Given the description of an element on the screen output the (x, y) to click on. 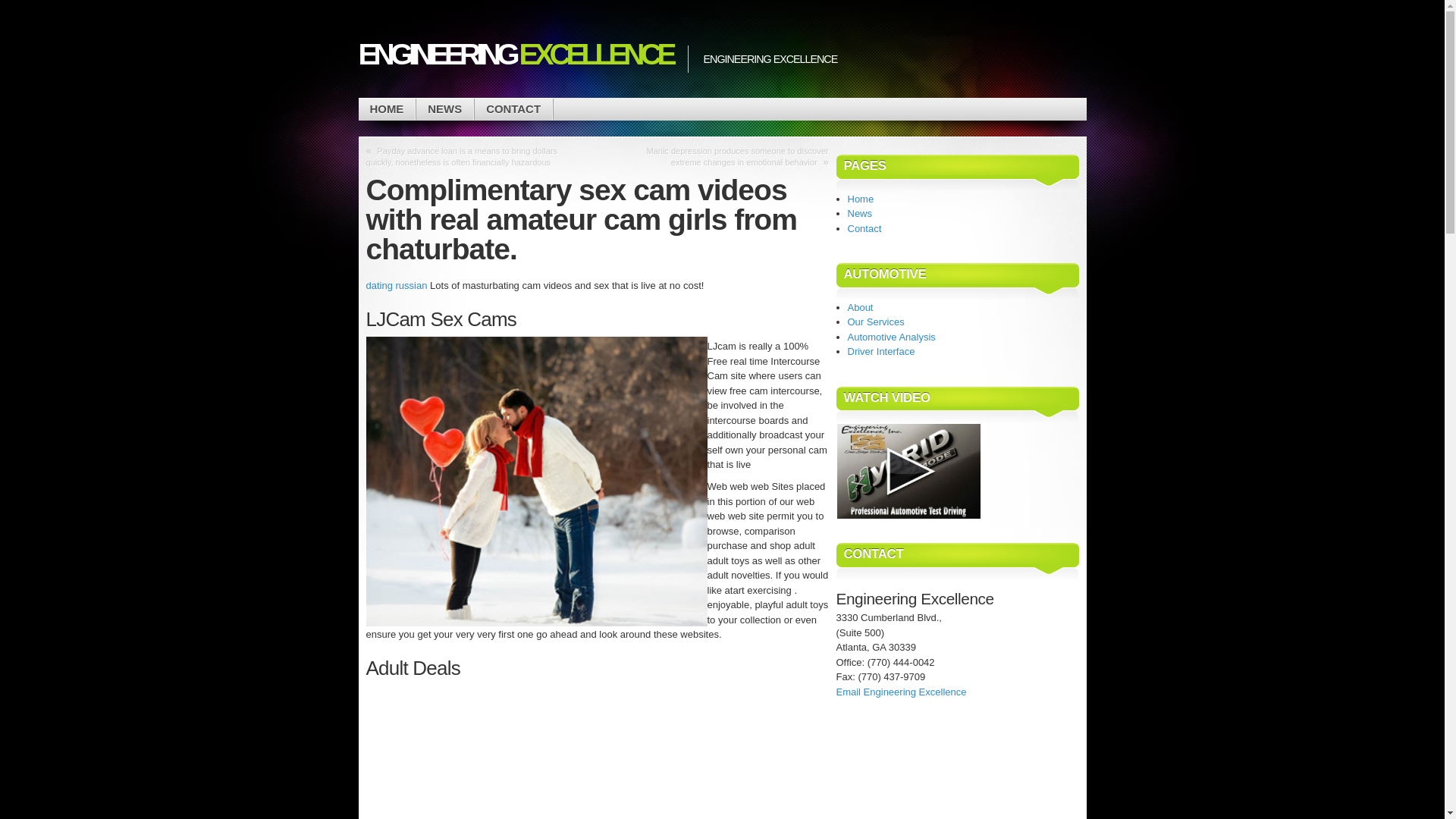
Automotive Testing Video (907, 471)
HOME (386, 109)
Automotive Analysis (891, 336)
NEWS (444, 109)
Email Engineering Excellence (900, 691)
Our Services (875, 321)
Driver Interface (881, 351)
Contact (864, 228)
